Given the description of an element on the screen output the (x, y) to click on. 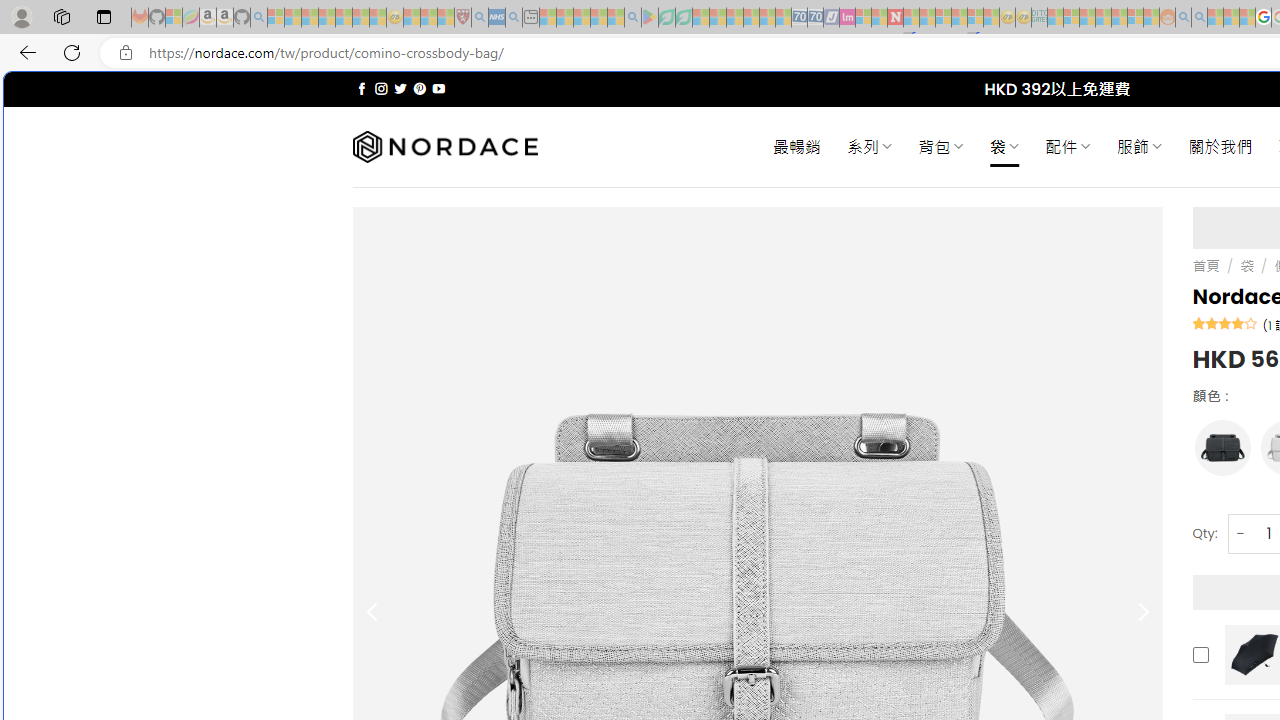
14 Common Myths Debunked By Scientific Facts - Sleeping (927, 17)
Add this product to cart (1200, 654)
Follow on Twitter (400, 88)
